Given the description of an element on the screen output the (x, y) to click on. 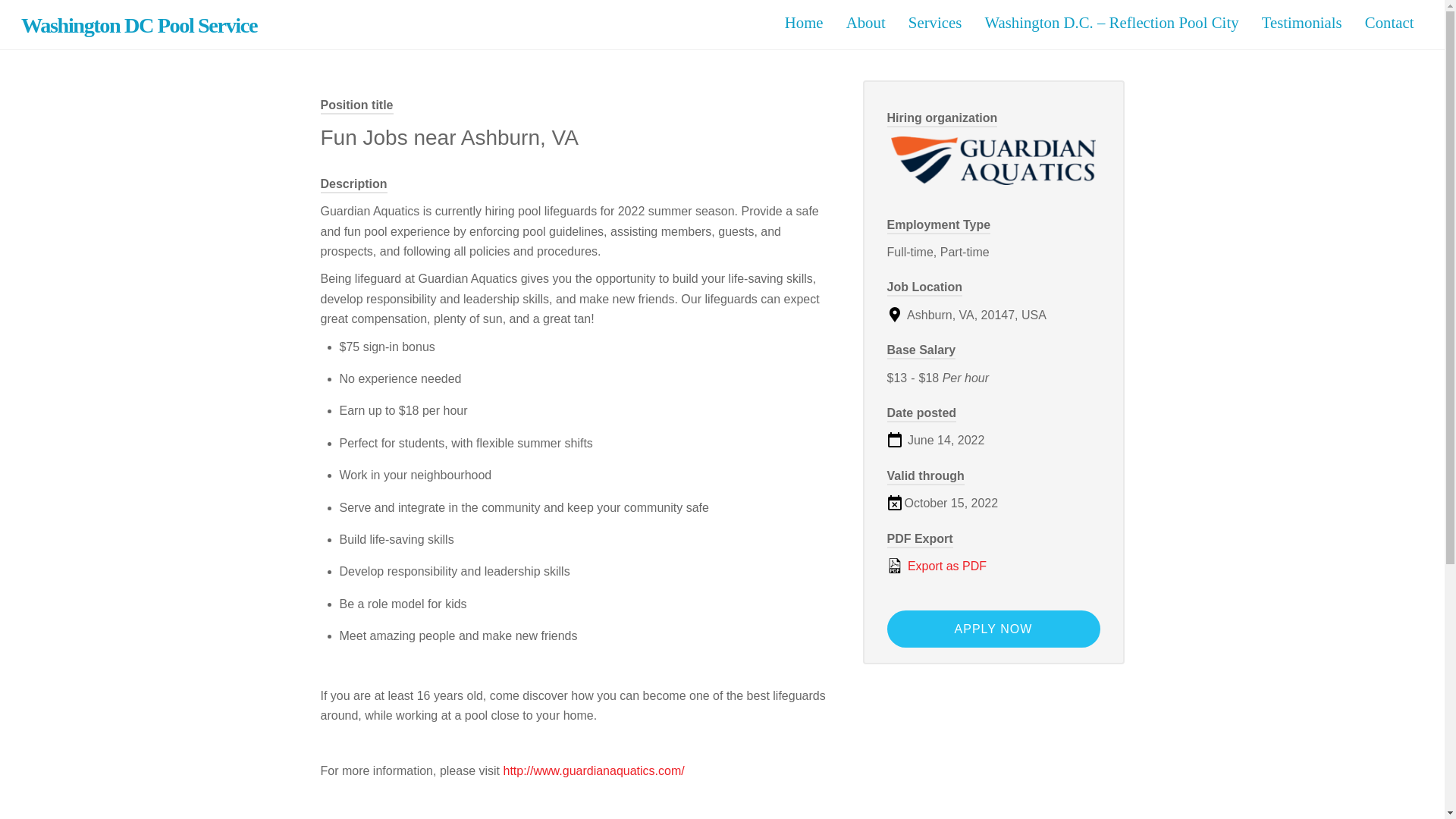
Home (803, 23)
Washington DC Pool Service (139, 24)
Services (934, 23)
Guardian Aquatics (993, 160)
Contact (1389, 23)
Testimonials (1301, 23)
About (865, 23)
APPLY NOW (993, 628)
Export as PDF (993, 566)
Washington DC Pool Service (139, 24)
